Given the description of an element on the screen output the (x, y) to click on. 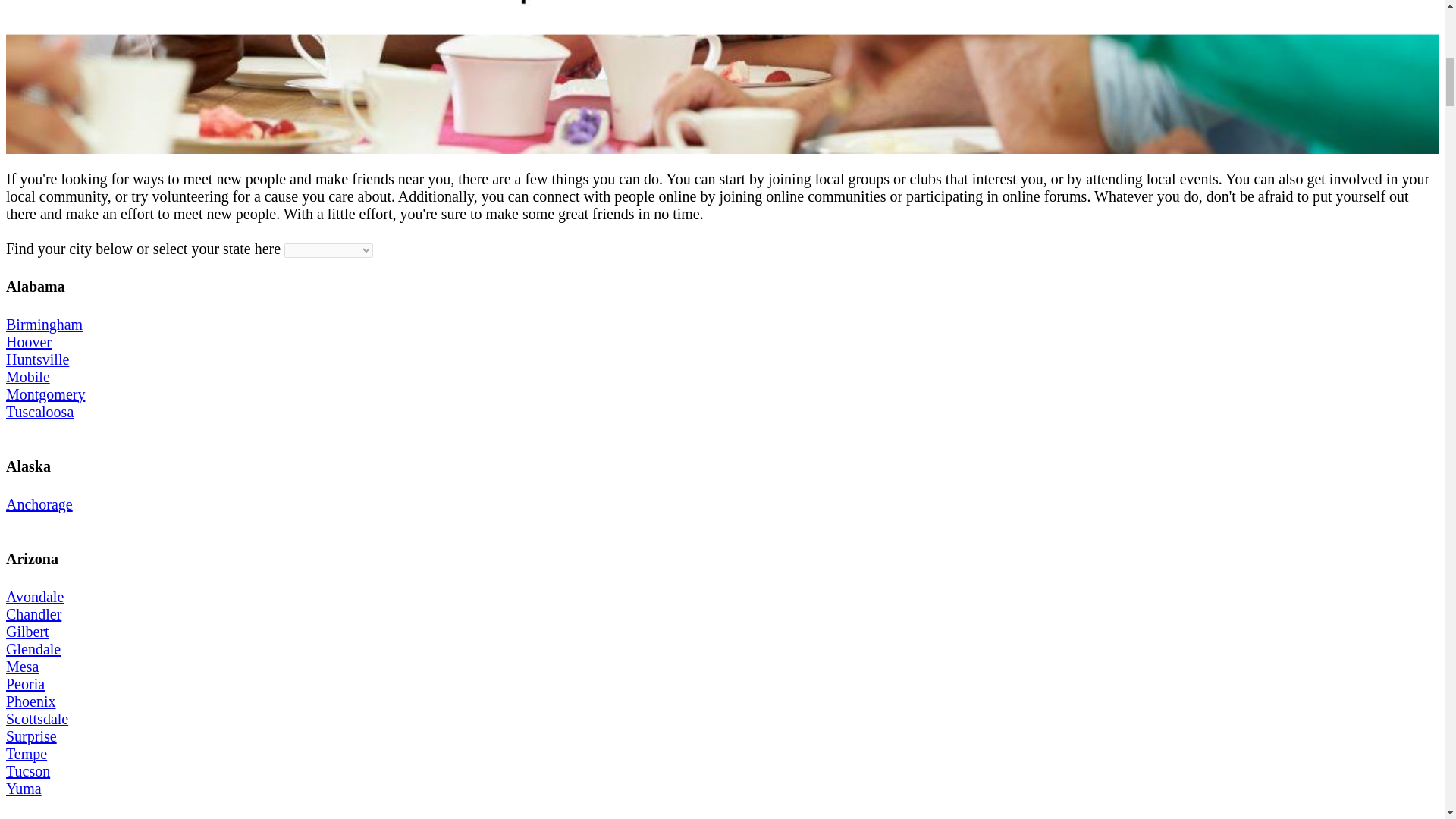
Peoria (25, 683)
Tempe (25, 753)
Hoover (27, 341)
Tucson (27, 770)
Yuma (23, 788)
Scottsdale (36, 718)
Mesa (22, 666)
Avondale (34, 596)
Gilbert (27, 631)
Anchorage (38, 504)
Chandler (33, 614)
Surprise (30, 736)
Tuscaloosa (39, 411)
Phoenix (30, 701)
Glendale (33, 648)
